Given the description of an element on the screen output the (x, y) to click on. 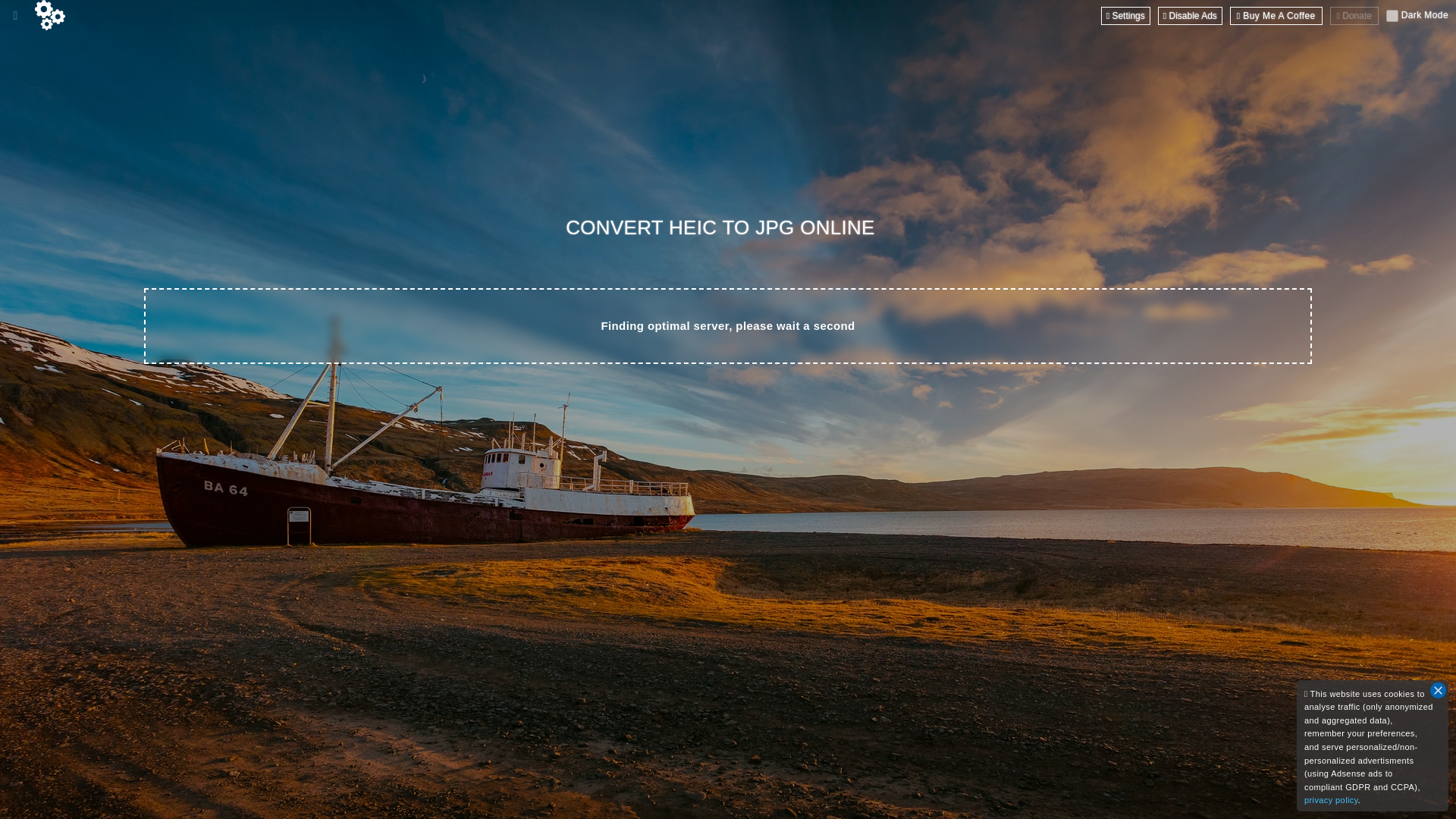
privacy policy (1331, 799)
Donate (1354, 14)
Donate via PayPal (1354, 15)
 Disable Ads (1190, 14)
CONVERT HEIC TO JPG ONLINE (724, 227)
Show or hide the menu (15, 15)
Go to Home page (49, 15)
Advertisement (727, 776)
Click to reload this page (724, 227)
Click to disable ads (1190, 14)
